Given the description of an element on the screen output the (x, y) to click on. 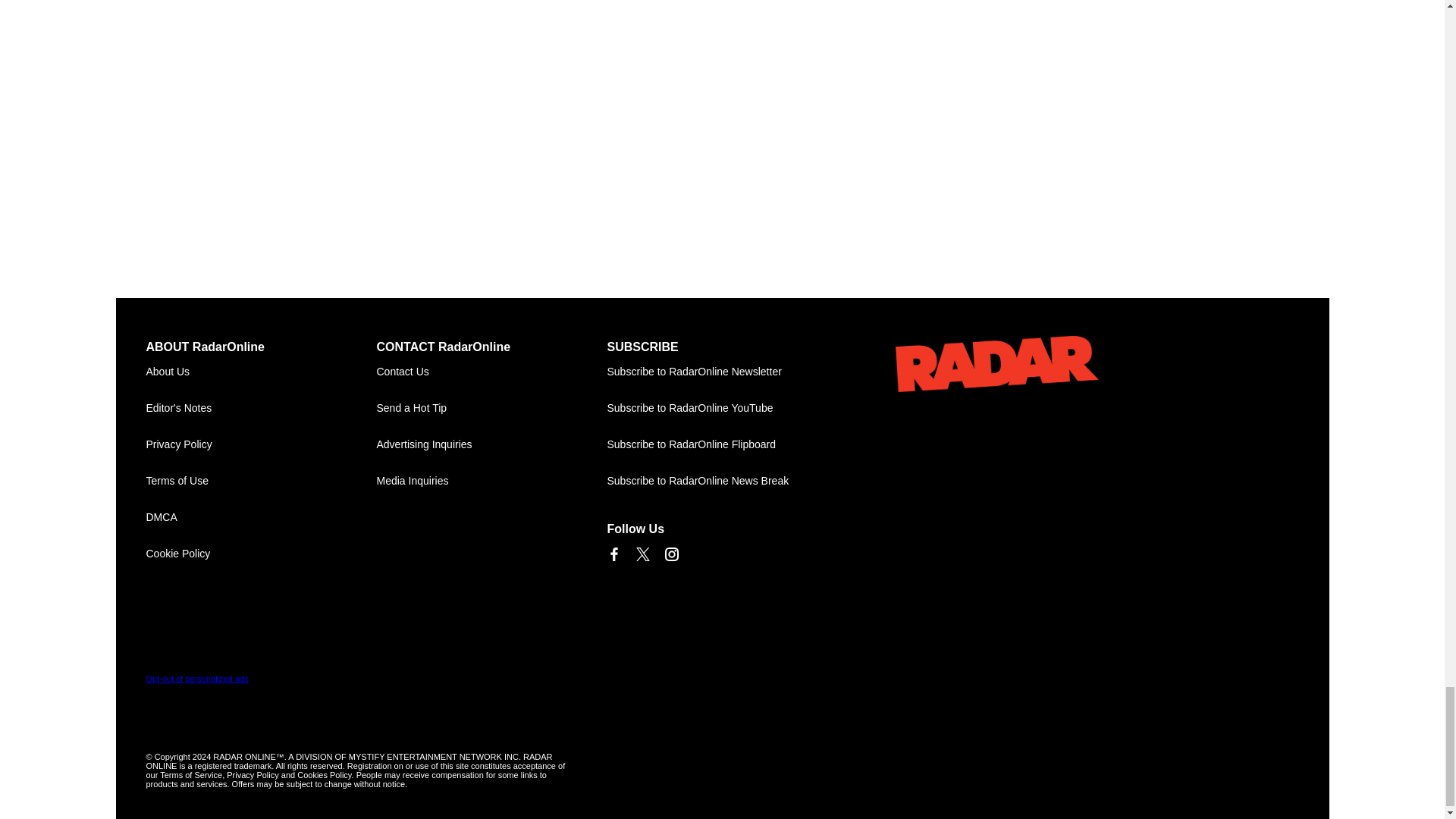
Privacy Policy (260, 444)
Link to Instagram (670, 554)
Editor's Notes (260, 408)
About Us (260, 371)
Media Inquiries (491, 481)
Link to Facebook (613, 554)
Send a Hot Tip (491, 408)
Subscribe (722, 371)
Terms of Use (260, 481)
Cookie Policy (260, 554)
